Given the description of an element on the screen output the (x, y) to click on. 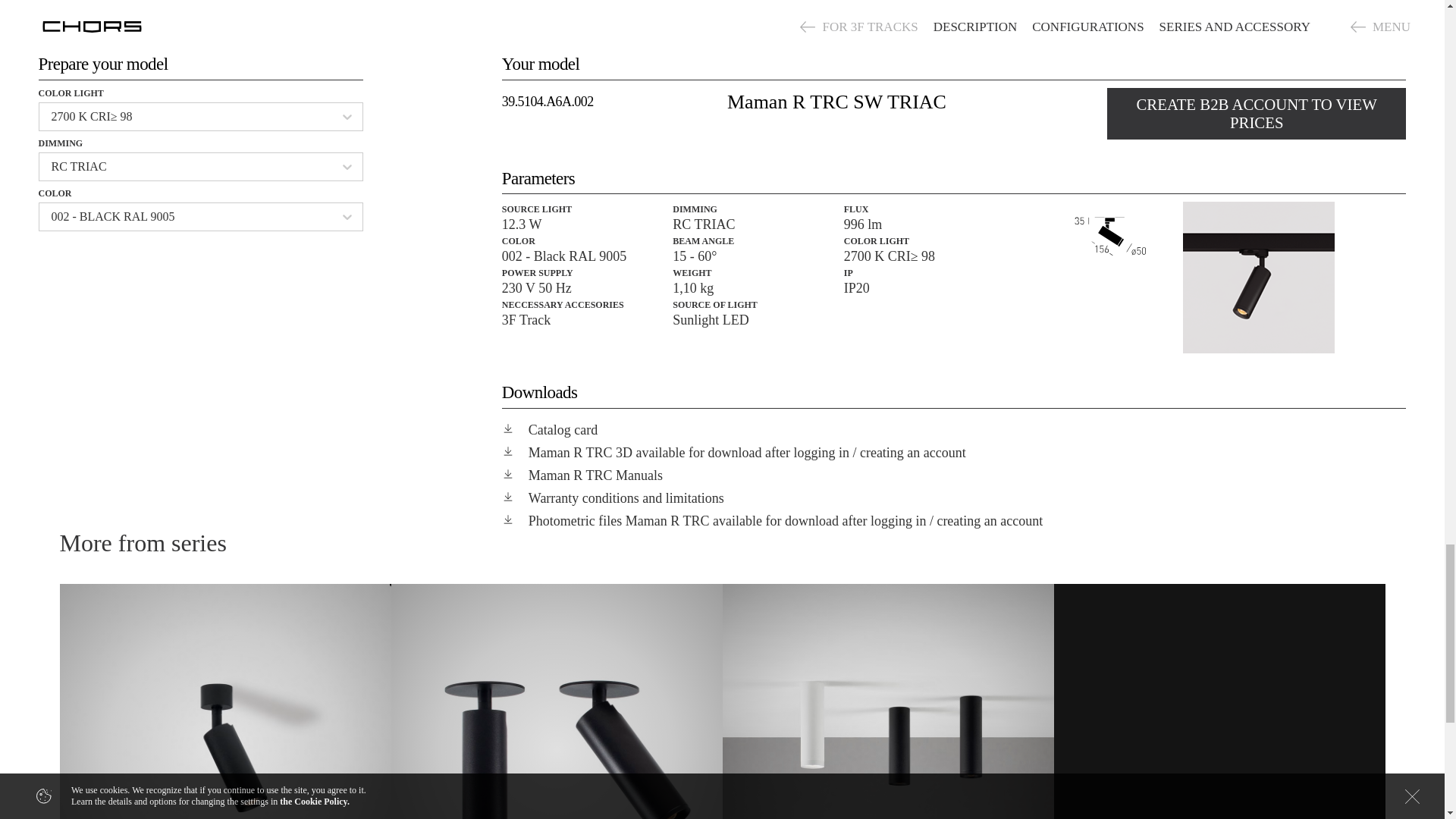
Maman R TRC Manuals (954, 475)
Maman R IN (556, 701)
Warranty conditions and limitations (954, 497)
Maman R ON (224, 701)
Catalog card (954, 429)
Maman (887, 701)
CREATE B2B ACCOUNT TO VIEW PRICES (1256, 113)
